Given the description of an element on the screen output the (x, y) to click on. 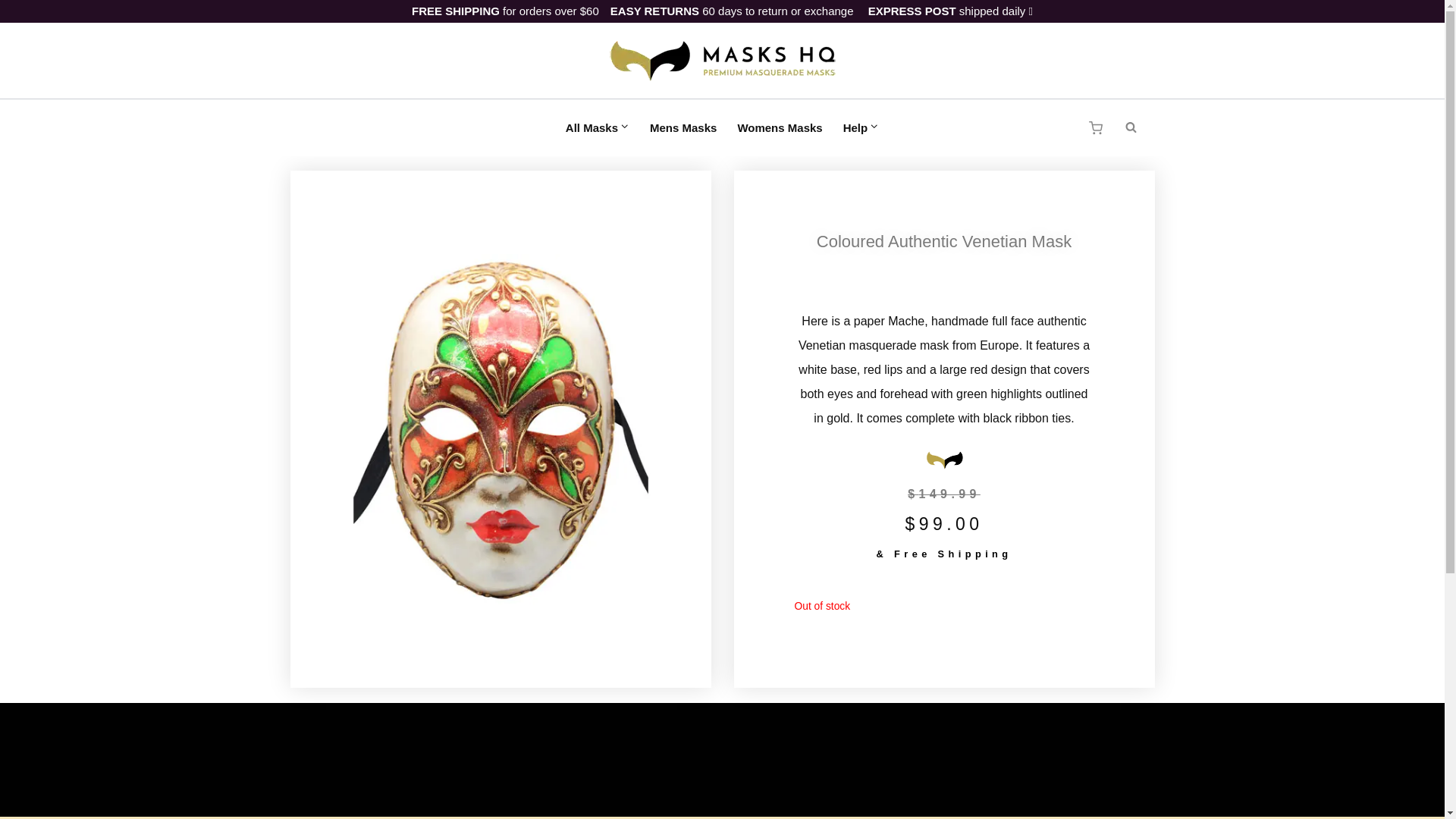
All Masks (596, 127)
